Given the description of an element on the screen output the (x, y) to click on. 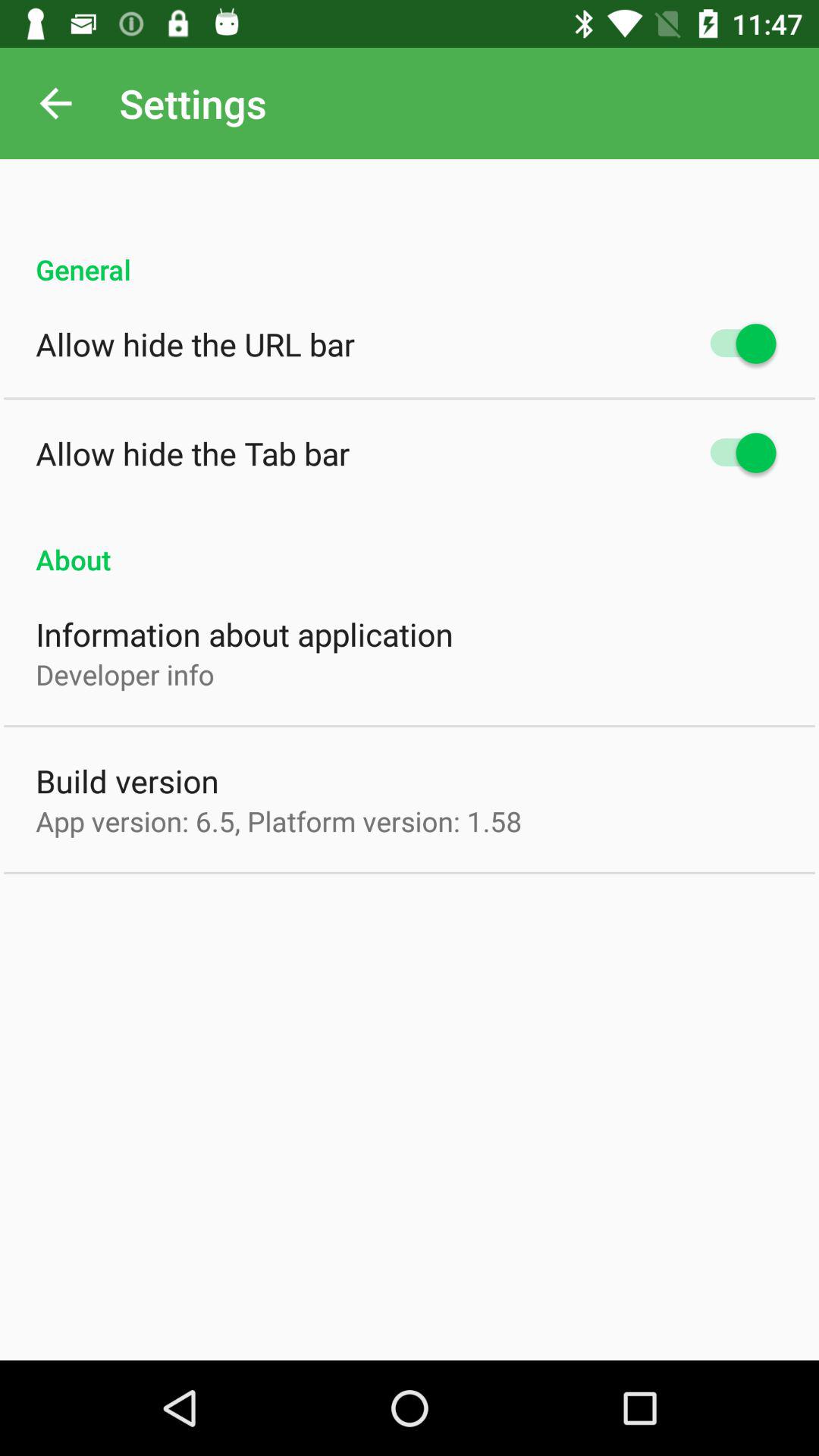
flip until the app version 6 icon (278, 821)
